Given the description of an element on the screen output the (x, y) to click on. 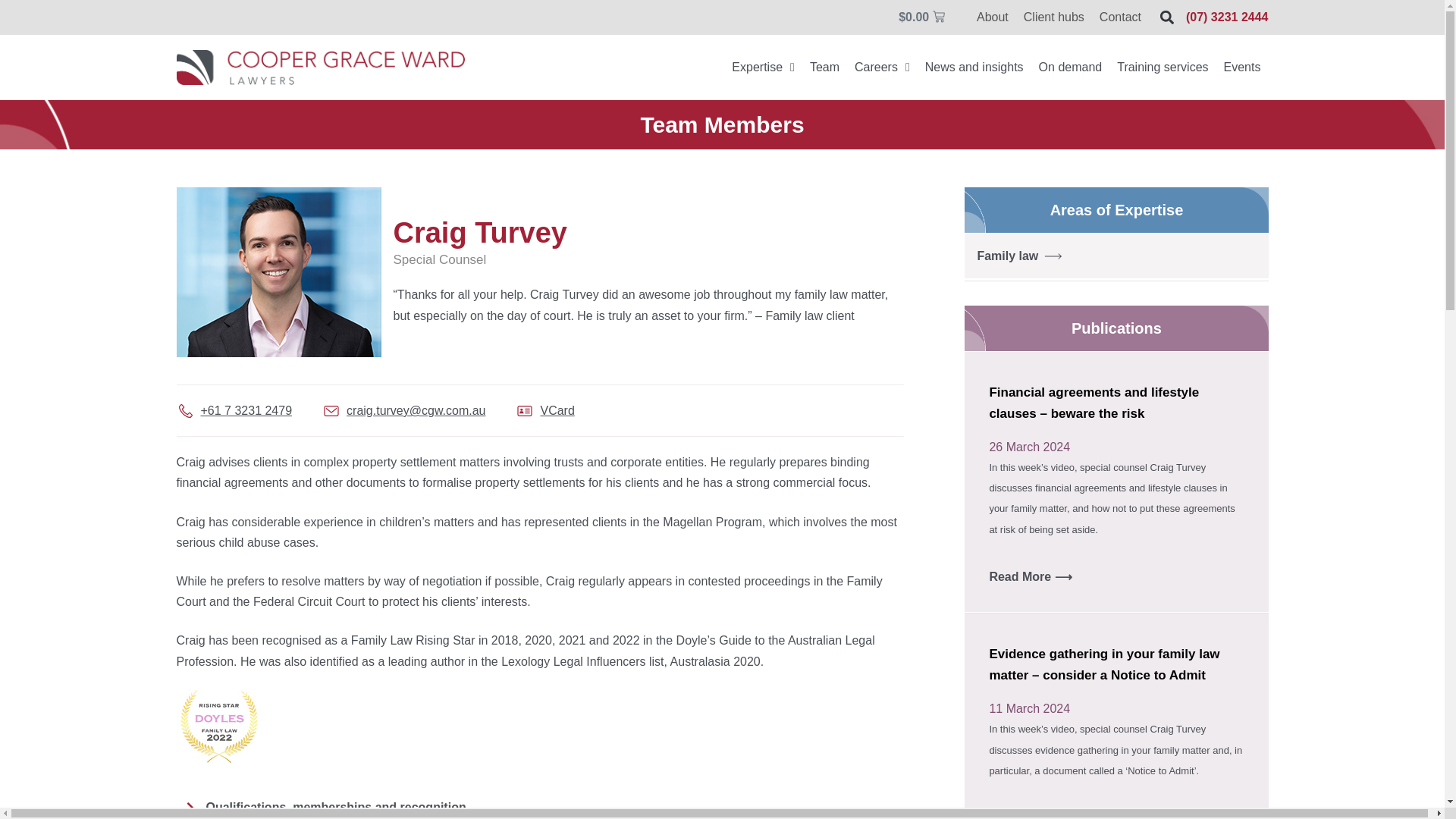
Expertise (762, 67)
Contact (1120, 17)
Client hubs (1054, 17)
About (992, 17)
